Given the description of an element on the screen output the (x, y) to click on. 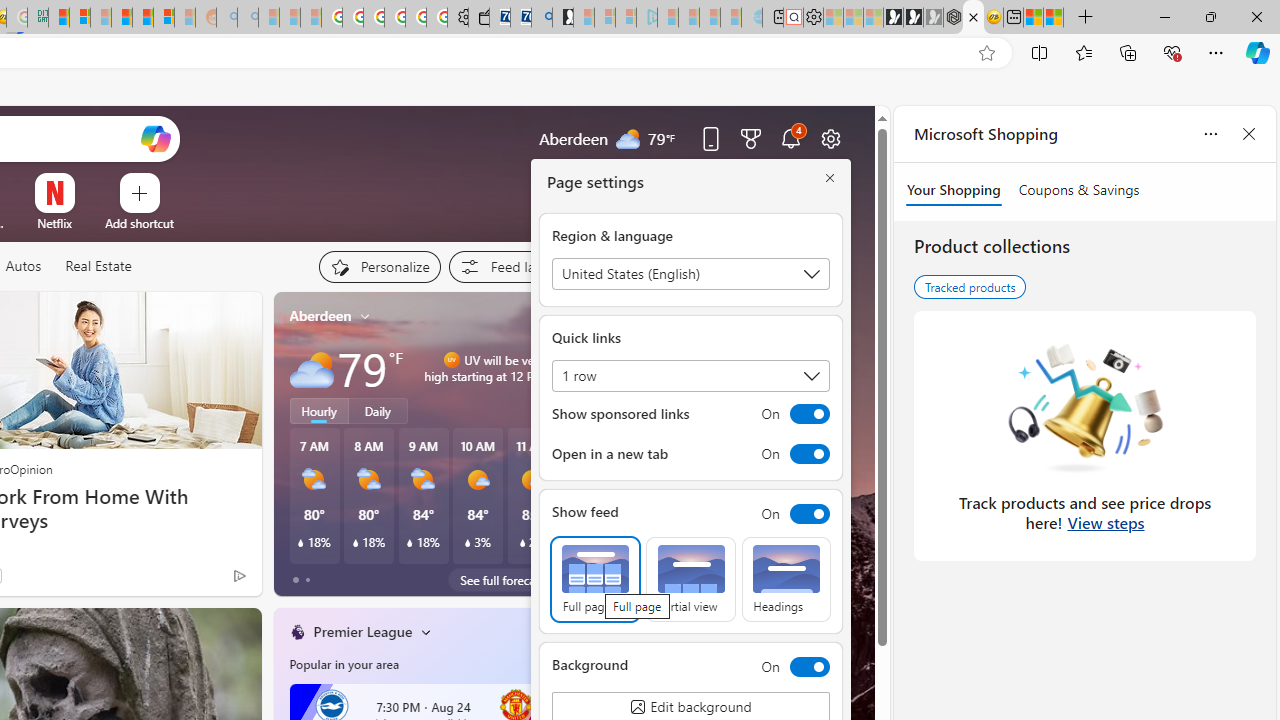
Wallet (478, 17)
Personalize your feed" (379, 266)
Feed settings (510, 266)
Class: weather-arrow-glyph (554, 367)
next (563, 443)
Home | Sky Blue Bikes - Sky Blue Bikes - Sleeping (751, 17)
Full page (594, 579)
Show sponsored links On (690, 413)
